Given the description of an element on the screen output the (x, y) to click on. 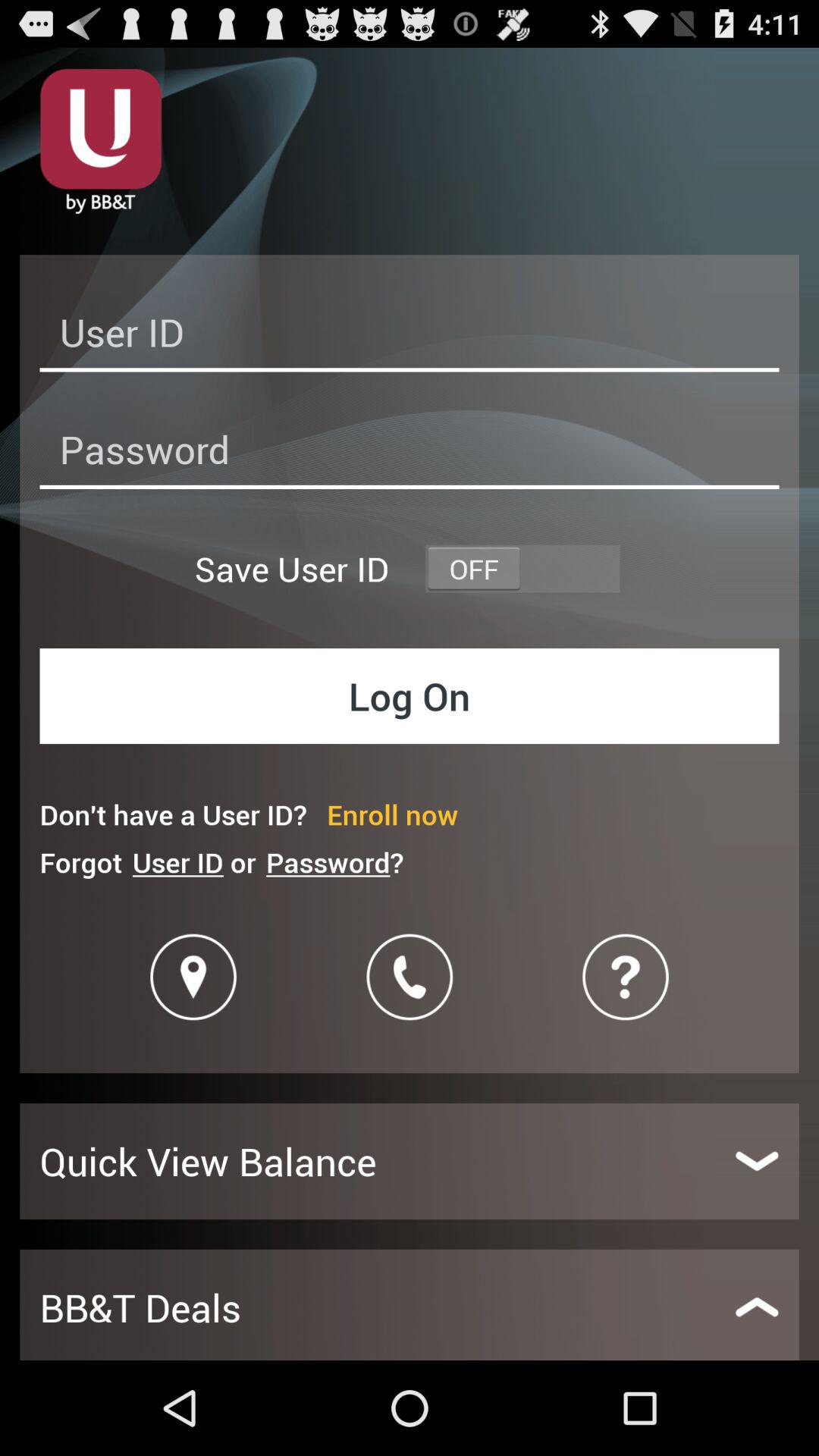
enter password (409, 454)
